Given the description of an element on the screen output the (x, y) to click on. 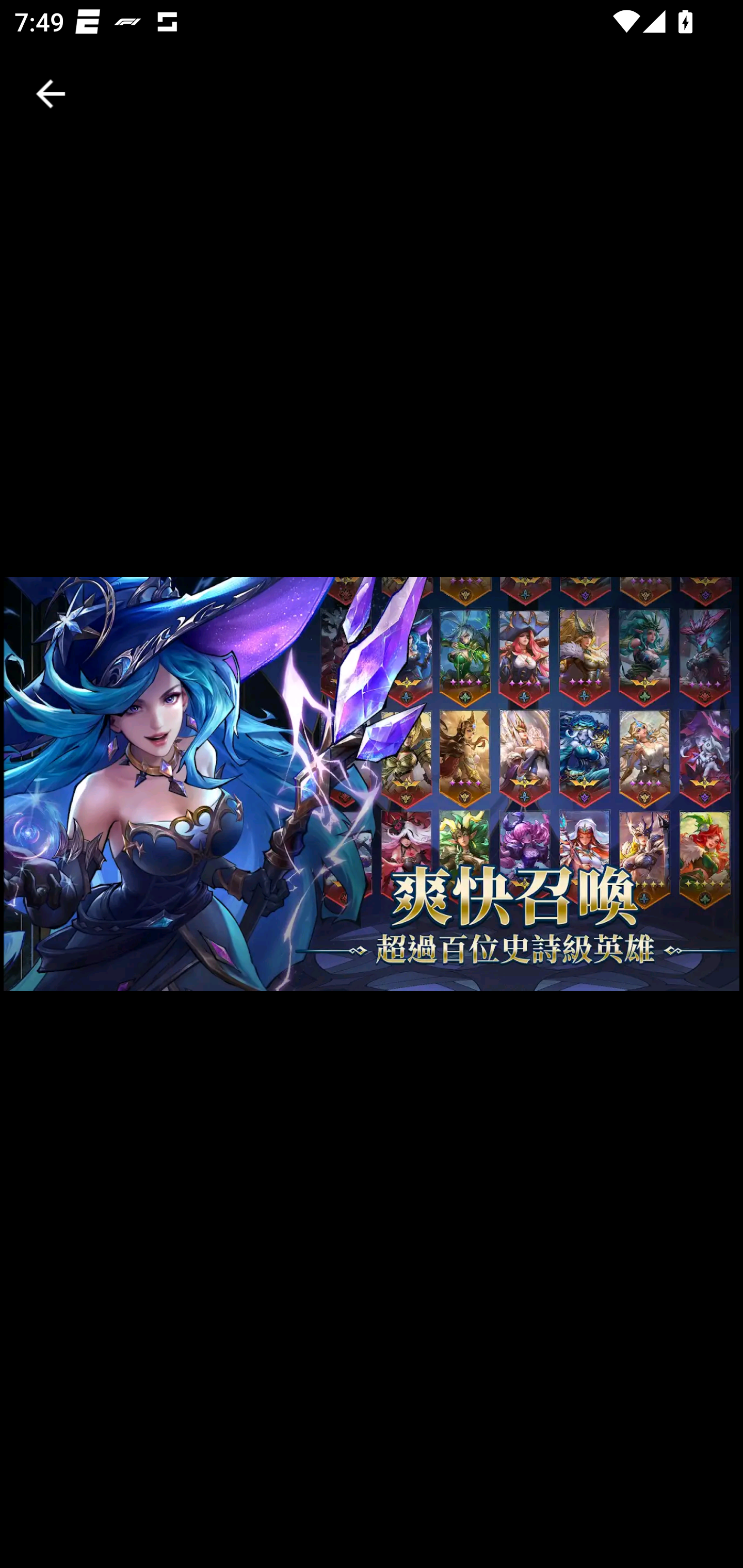
Back (50, 93)
